Given the description of an element on the screen output the (x, y) to click on. 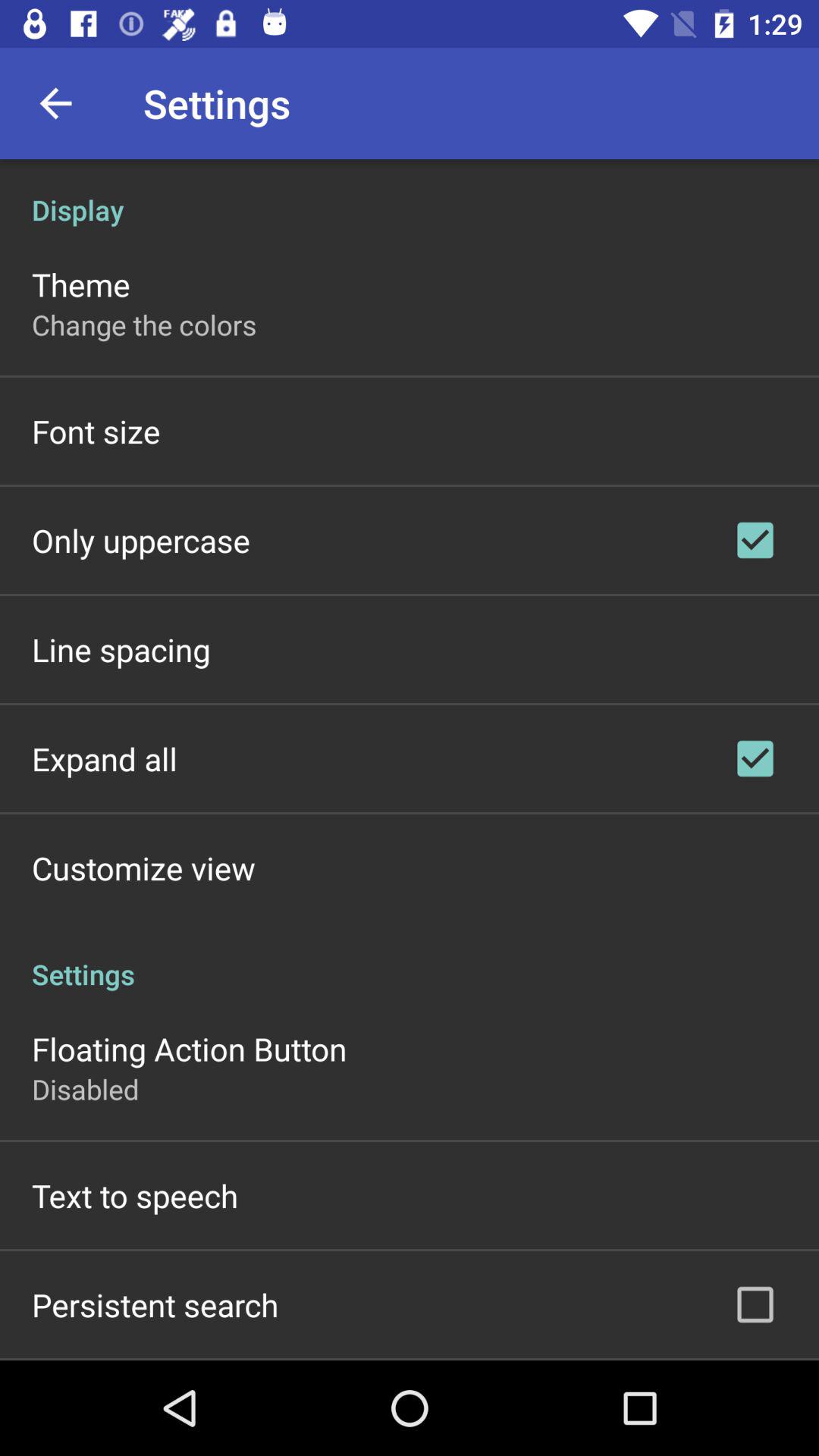
flip to floating action button (188, 1048)
